Given the description of an element on the screen output the (x, y) to click on. 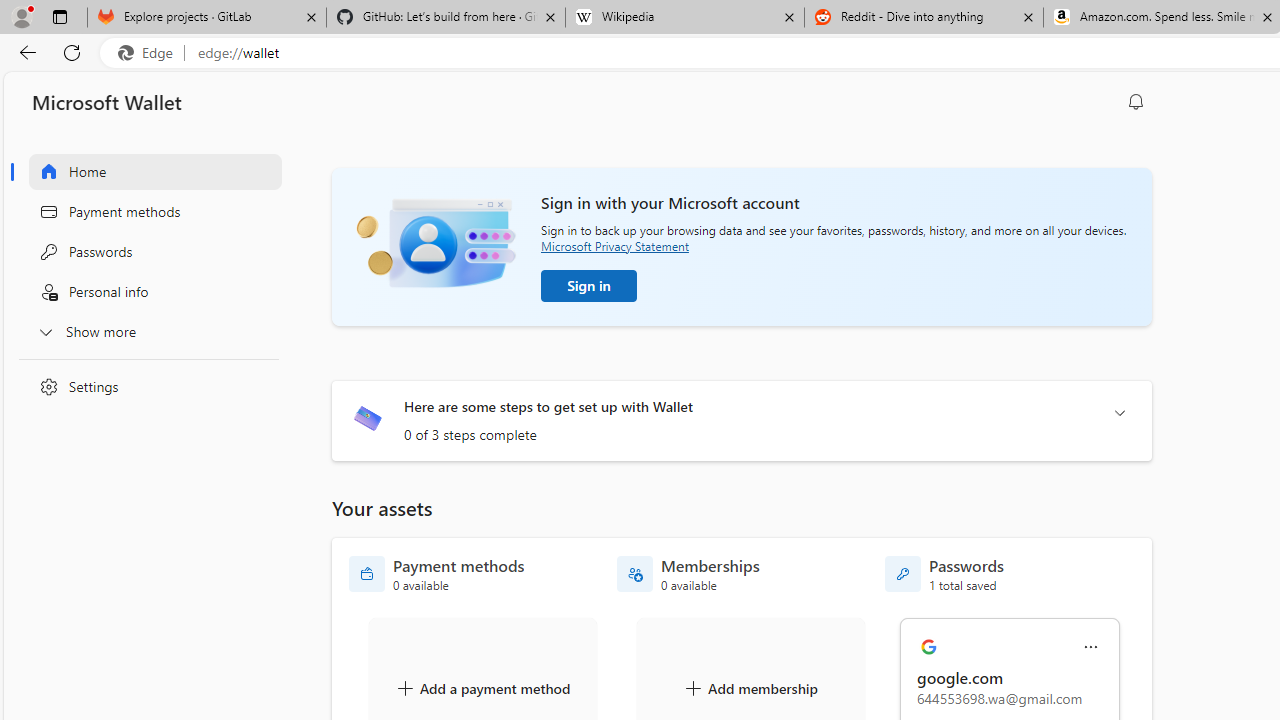
Personal info (143, 292)
Payment methods (143, 211)
Sign in (589, 285)
Passwords - 1 total saved (944, 573)
Notification (1136, 101)
Memberships - 0 available (688, 573)
Passwords (143, 252)
